Given the description of an element on the screen output the (x, y) to click on. 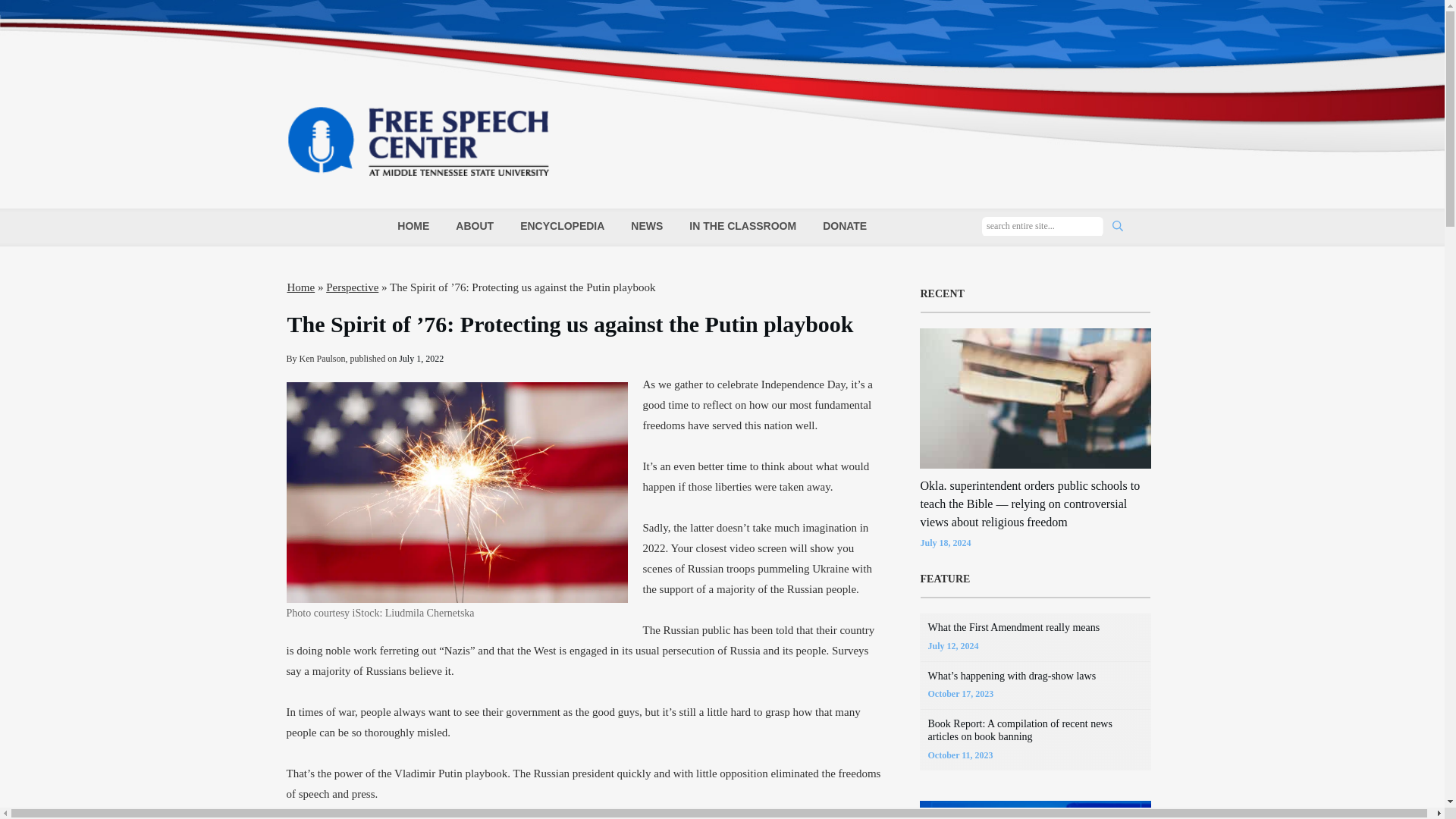
What the First Amendment really means (1014, 627)
DONATE (844, 225)
HOME (413, 225)
ENCYCLOPEDIA (561, 225)
NEWS (646, 225)
What the First Amendment really means (1014, 627)
IN THE CLASSROOM (742, 225)
Perspective (352, 287)
ABOUT (474, 225)
Placeholder (456, 492)
Home (300, 287)
